Given the description of an element on the screen output the (x, y) to click on. 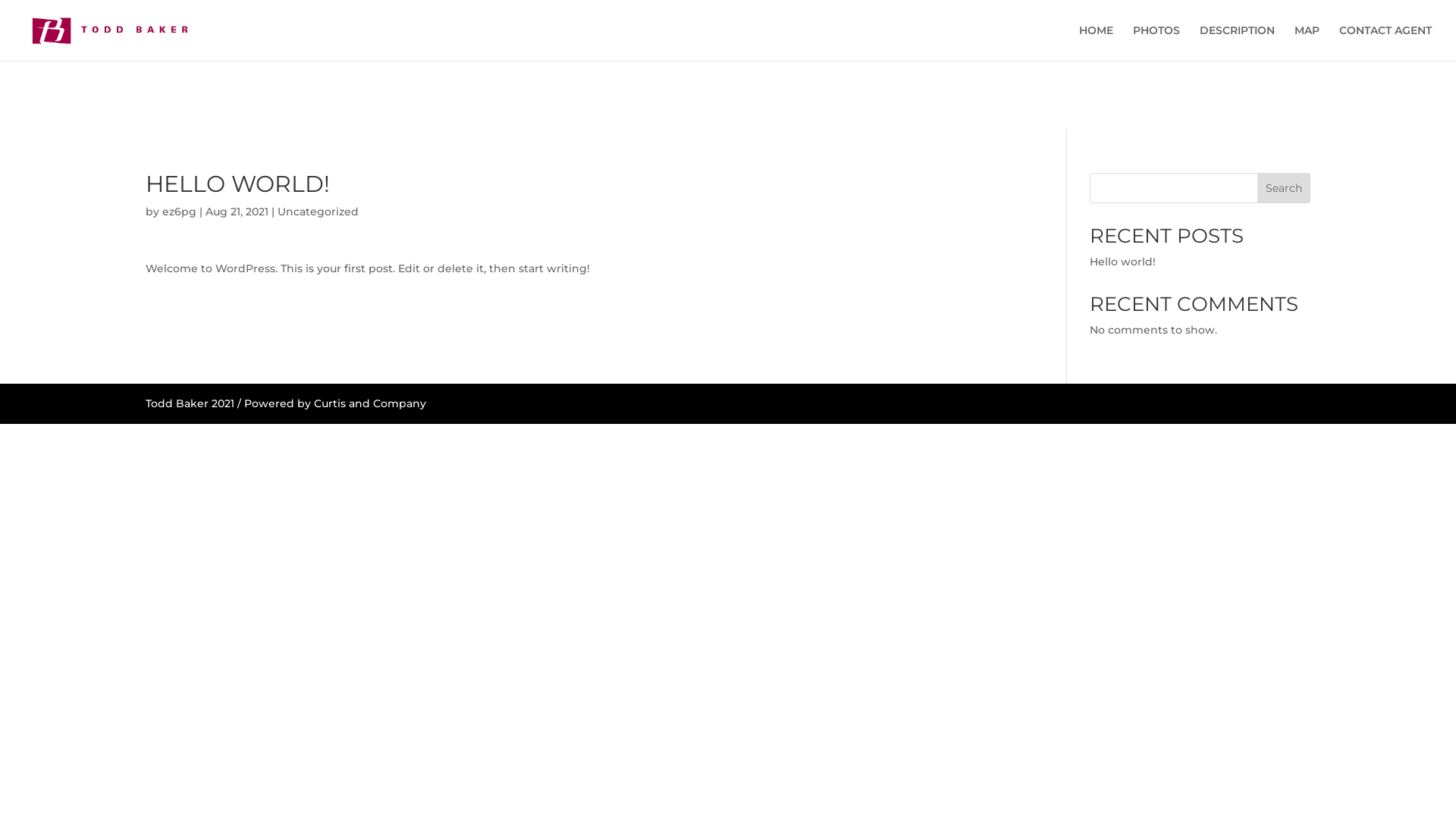
PHOTOS Element type: text (1155, 42)
DESCRIPTION Element type: text (1236, 42)
Search Element type: text (1283, 187)
Hello world! Element type: text (1122, 261)
HOME Element type: text (1096, 42)
CONTACT AGENT Element type: text (1385, 42)
MAP Element type: text (1306, 42)
Uncategorized Element type: text (317, 211)
ez6pg Element type: text (179, 211)
